Given the description of an element on the screen output the (x, y) to click on. 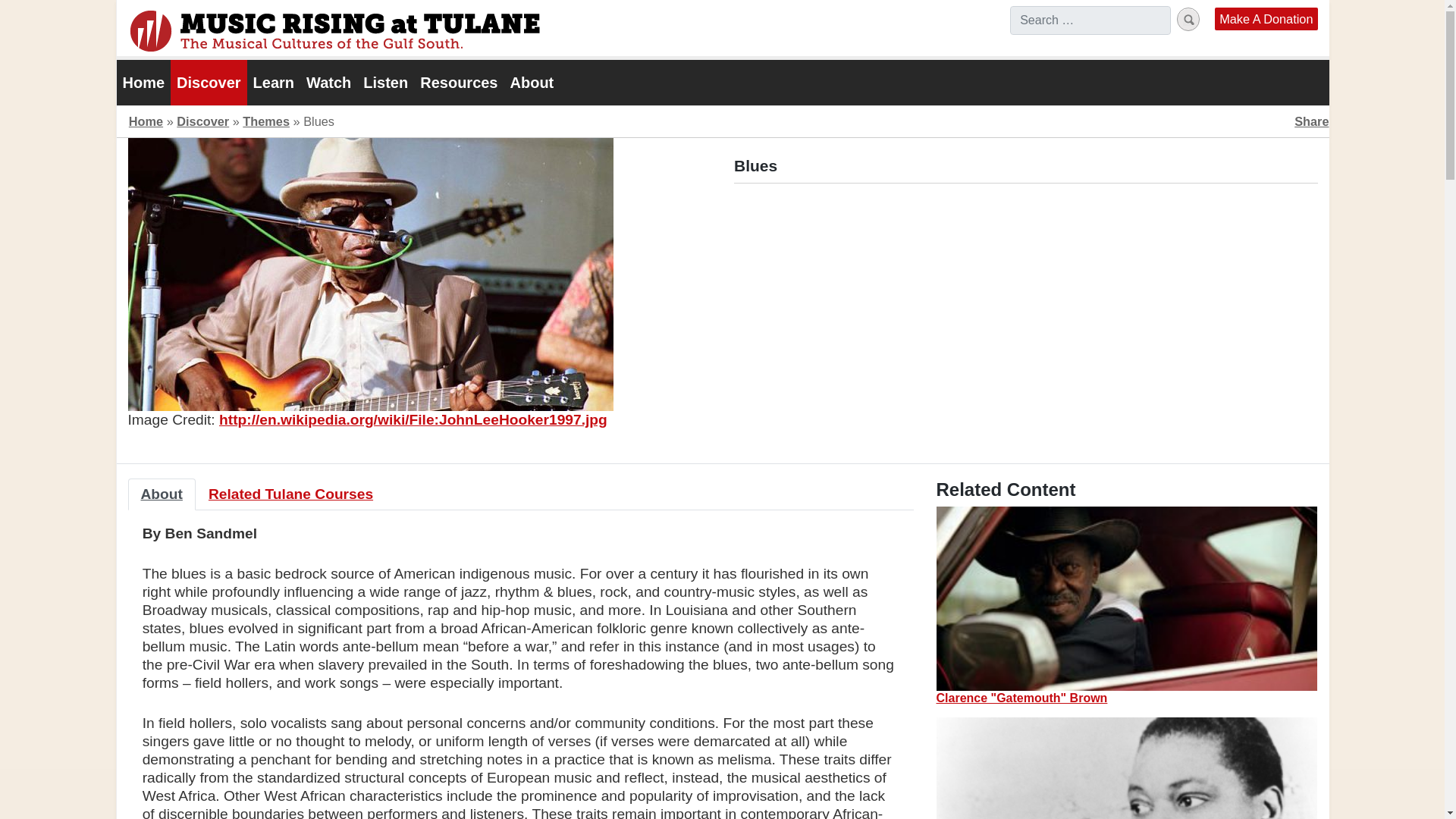
Home (143, 82)
Discover (208, 82)
Watch (327, 82)
About (161, 494)
Watch (327, 82)
Learn (273, 82)
Resources (458, 82)
Search (1187, 19)
Home (146, 120)
About (531, 82)
